Given the description of an element on the screen output the (x, y) to click on. 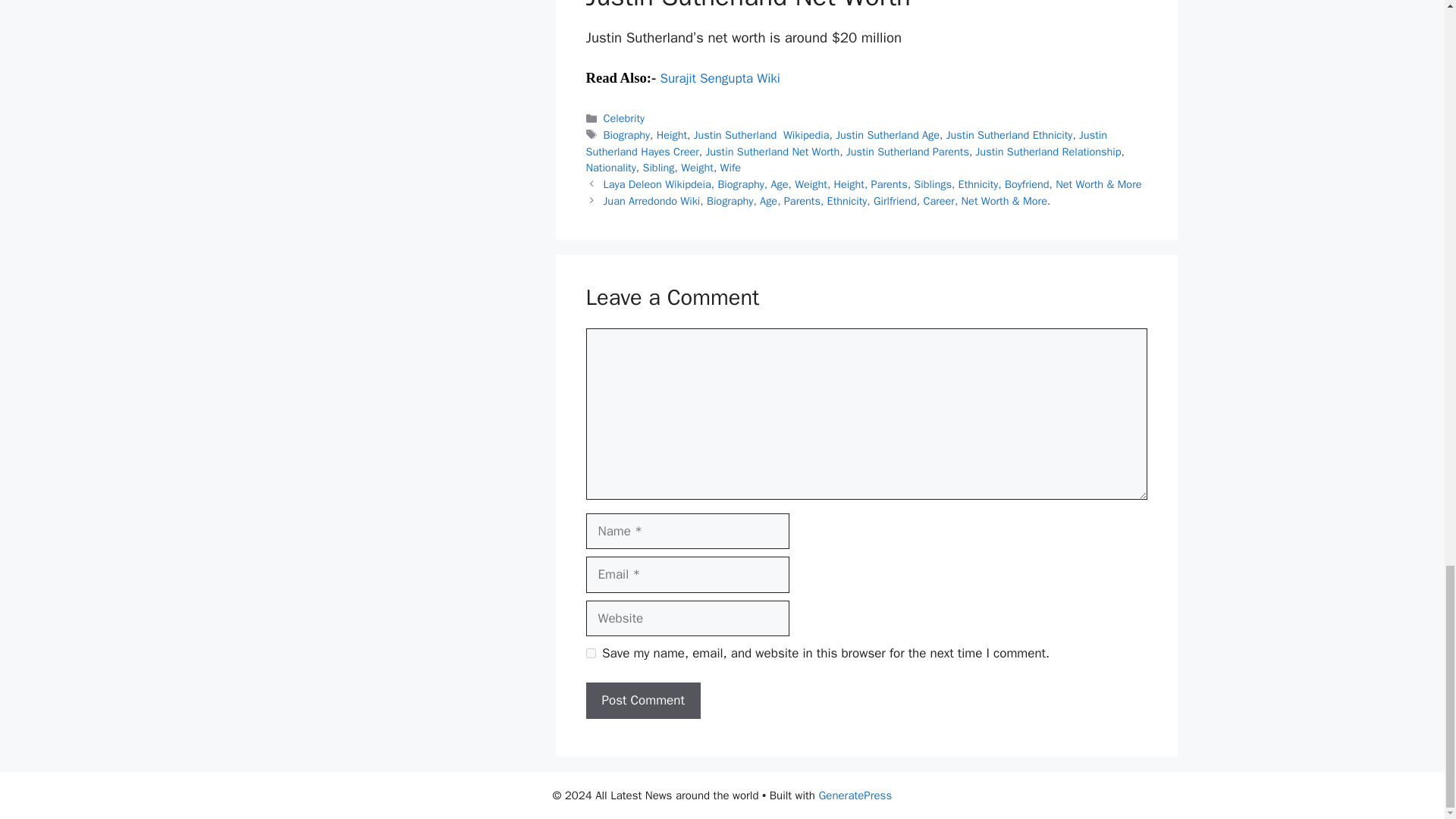
Justin Sutherland Ethnicity (1009, 134)
Sibling (658, 167)
Justin Sutherland Hayes Creer (845, 142)
Justin Sutherland Age (887, 134)
Post Comment (642, 700)
yes (590, 653)
Justin Sutherland Net Worth (773, 151)
Celebrity (624, 118)
Justin Sutherland Relationship (1048, 151)
Biography (626, 134)
